Given the description of an element on the screen output the (x, y) to click on. 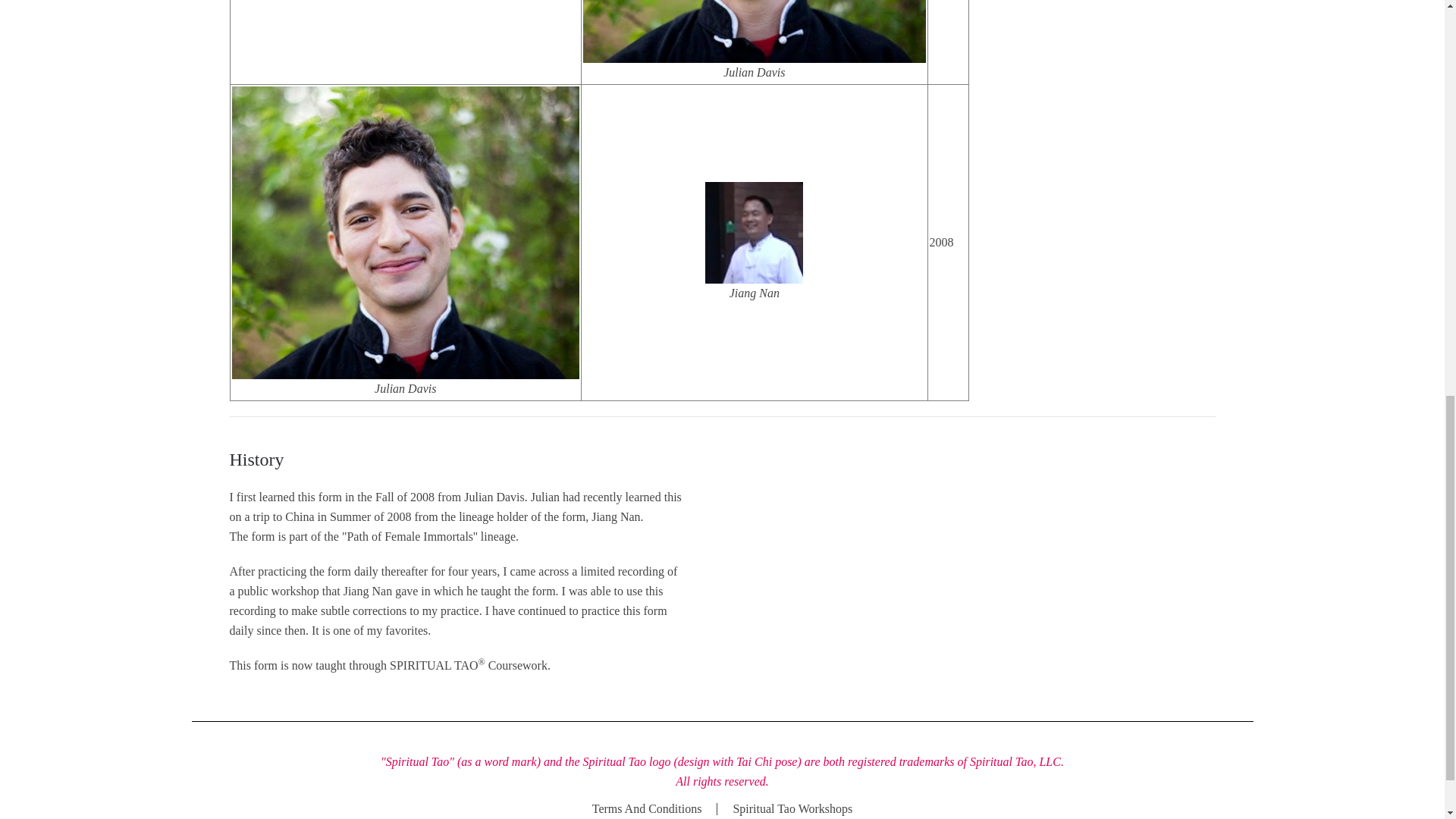
Spiritual Tao Workshops (791, 809)
Terms And Conditions (646, 809)
